Given the description of an element on the screen output the (x, y) to click on. 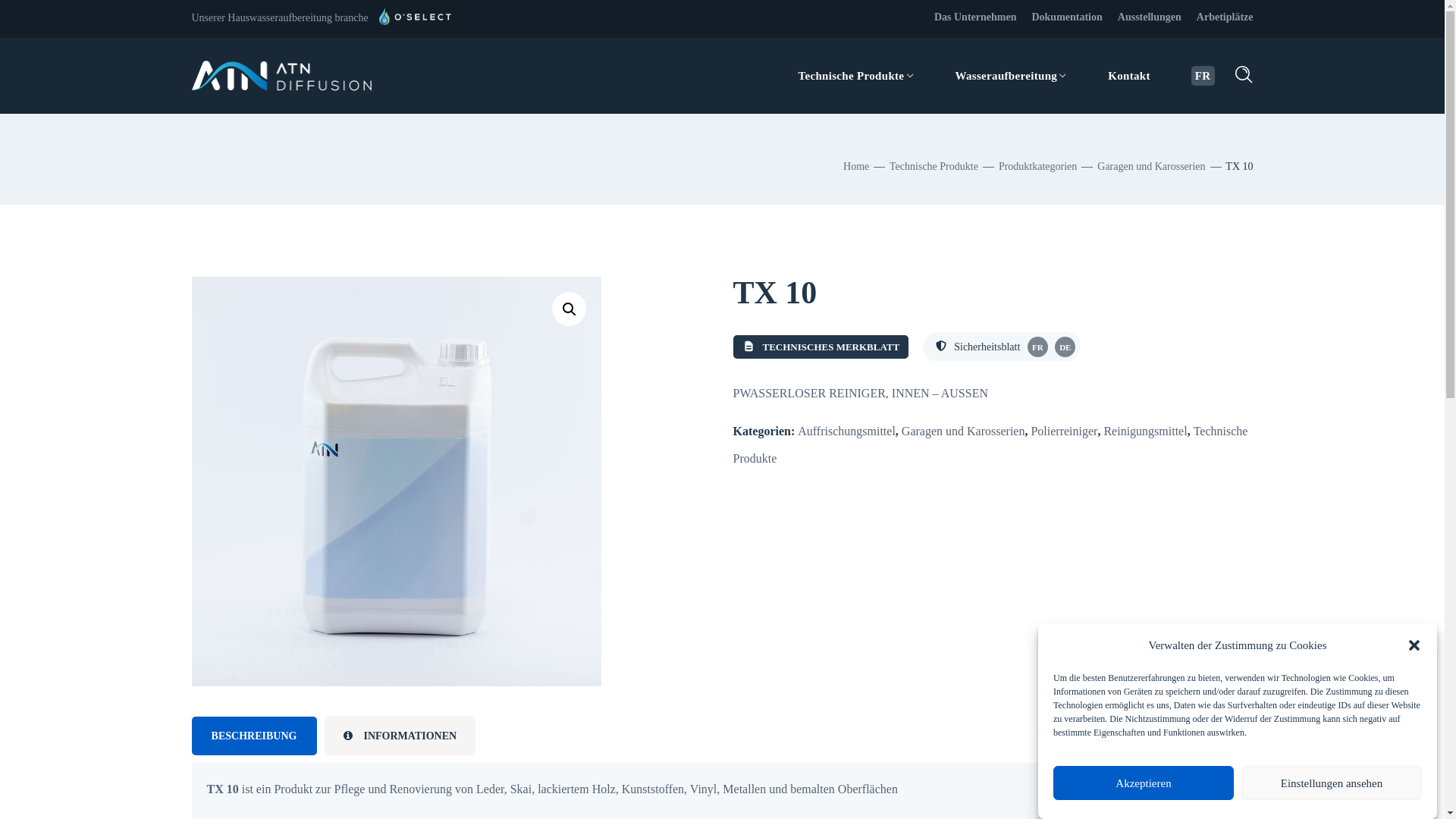
Reinigungsmittel Element type: text (1144, 430)
Einstellungen ansehen Element type: text (1331, 782)
FR Element type: text (1037, 346)
DE Element type: text (1064, 346)
Produktkategorien Element type: text (1037, 166)
Garagen und Karosserien Element type: text (963, 430)
Das Unternehmen Element type: text (975, 16)
FR Element type: text (1202, 75)
Auffrischungsmittel Element type: text (846, 430)
Home Element type: text (856, 166)
Technische Produkte Element type: text (933, 166)
Kontakt Element type: text (1128, 75)
INFORMATIONEN Element type: text (400, 735)
Polierreiniger Element type: text (1063, 430)
FR Element type: text (1035, 346)
bidon_blanc_5L Element type: hover (395, 481)
Ausstellungen Element type: text (1149, 16)
Technische Produkte Element type: text (856, 75)
Garagen und Karosserien Element type: text (1150, 166)
Technische Produkte Element type: text (989, 444)
DE Element type: text (1062, 346)
Dokumentation Element type: text (1066, 16)
Wasseraufbereitung Element type: text (1010, 75)
Akzeptieren Element type: text (1143, 782)
Suchen Element type: text (1198, 157)
TECHNISCHES MERKBLATT Element type: text (820, 346)
BESCHREIBUNG Element type: text (253, 735)
Suchen Element type: text (1198, 43)
